Given the description of an element on the screen output the (x, y) to click on. 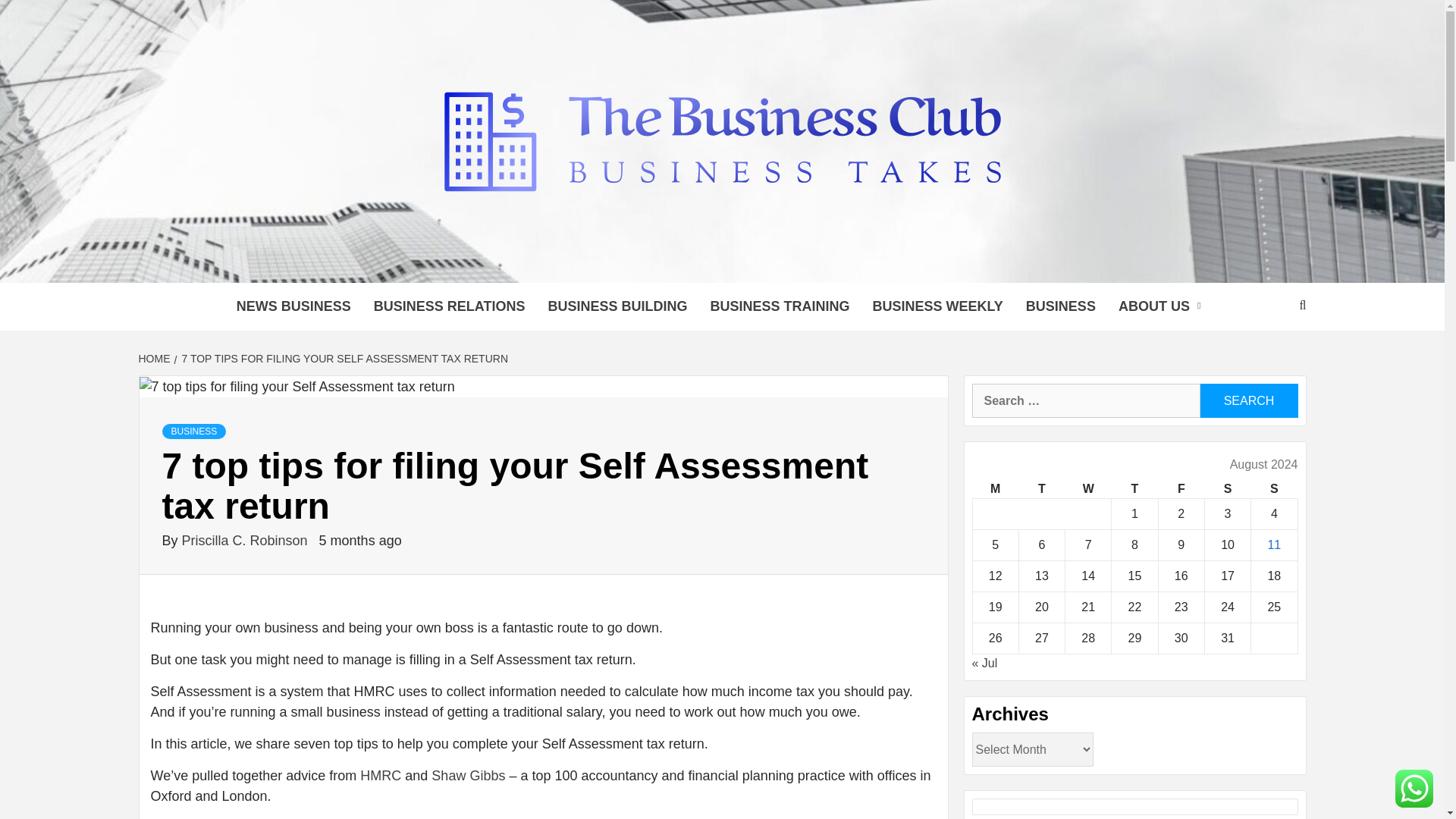
NEWS BUSINESS (293, 306)
BUSINESS (194, 431)
Search (1248, 400)
Monday (994, 488)
BUSINESS (1060, 306)
HOME (155, 358)
7 top tips for filing your Self Assessment tax return (296, 386)
BUSINESS RELATIONS (449, 306)
HMRC (380, 775)
Wednesday (1088, 488)
